Given the description of an element on the screen output the (x, y) to click on. 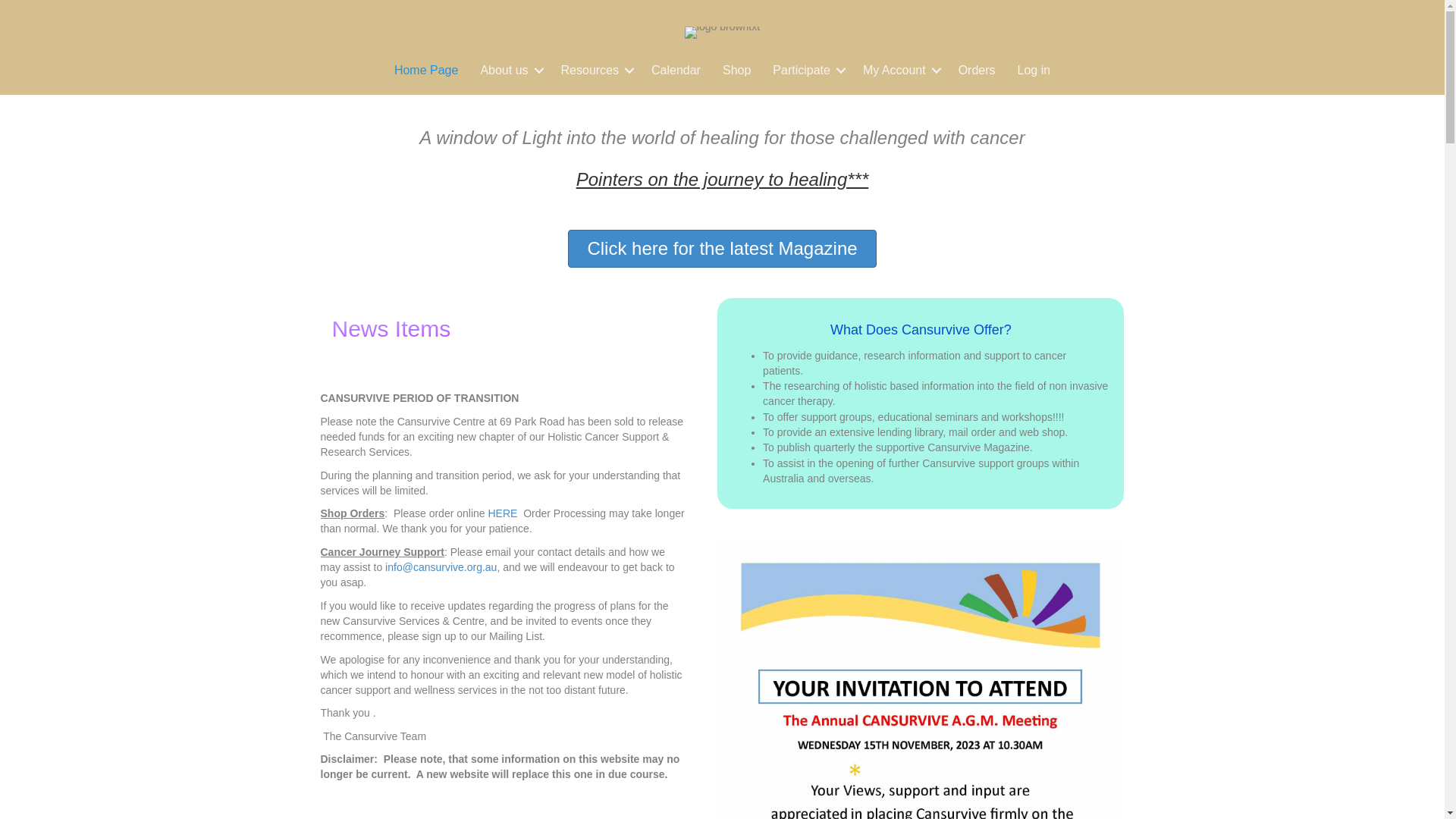
logo browntxt Element type: hover (721, 32)
HERE Element type: text (502, 513)
Participate Element type: text (806, 70)
info@cansurvive.org.au Element type: text (440, 567)
Home Page Element type: text (426, 70)
Resources Element type: text (595, 70)
Click here for the latest Magazine Element type: text (721, 248)
About us Element type: text (509, 70)
Log in Element type: text (1034, 70)
Orders Element type: text (976, 70)
Calendar Element type: text (675, 70)
Pointers on the journey to healing*** Element type: text (722, 179)
Shop Element type: text (736, 70)
My Account Element type: text (899, 70)
